Given the description of an element on the screen output the (x, y) to click on. 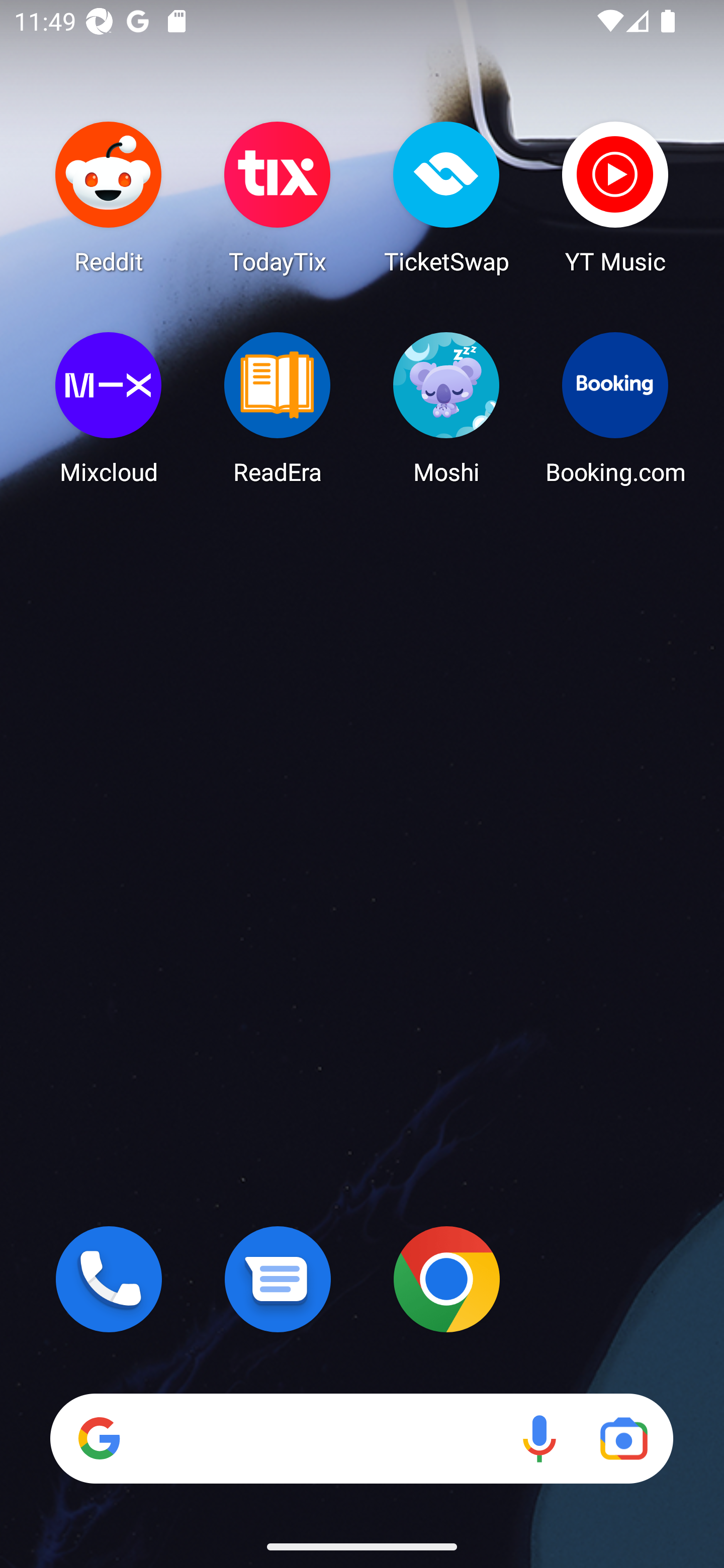
Reddit (108, 196)
TodayTix (277, 196)
TicketSwap (445, 196)
YT Music (615, 196)
Mixcloud (108, 407)
ReadEra (277, 407)
Moshi (445, 407)
Booking.com (615, 407)
Phone (108, 1279)
Messages (277, 1279)
Chrome (446, 1279)
Search Voice search Google Lens (361, 1438)
Voice search (539, 1438)
Google Lens (623, 1438)
